Given the description of an element on the screen output the (x, y) to click on. 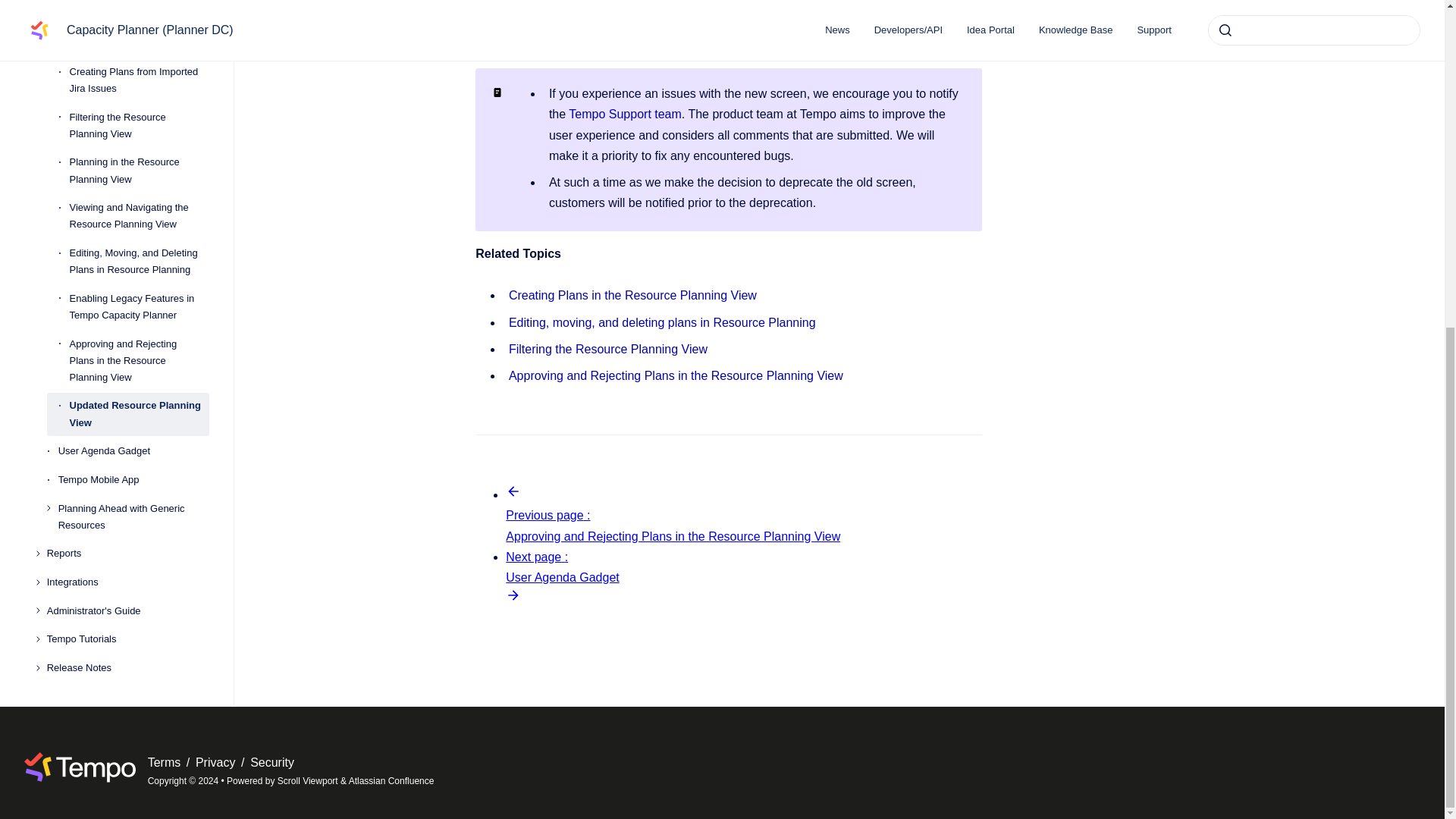
Tempo Tutorials (127, 213)
Tempo Mobile App (133, 53)
User Agenda Gadget (133, 24)
Integrations (127, 155)
Administrator's Guide (127, 185)
Updated Resource Planning View (139, 5)
Reports (127, 127)
Release Notes (127, 241)
Planning Ahead with Generic Resources (133, 90)
